Given the description of an element on the screen output the (x, y) to click on. 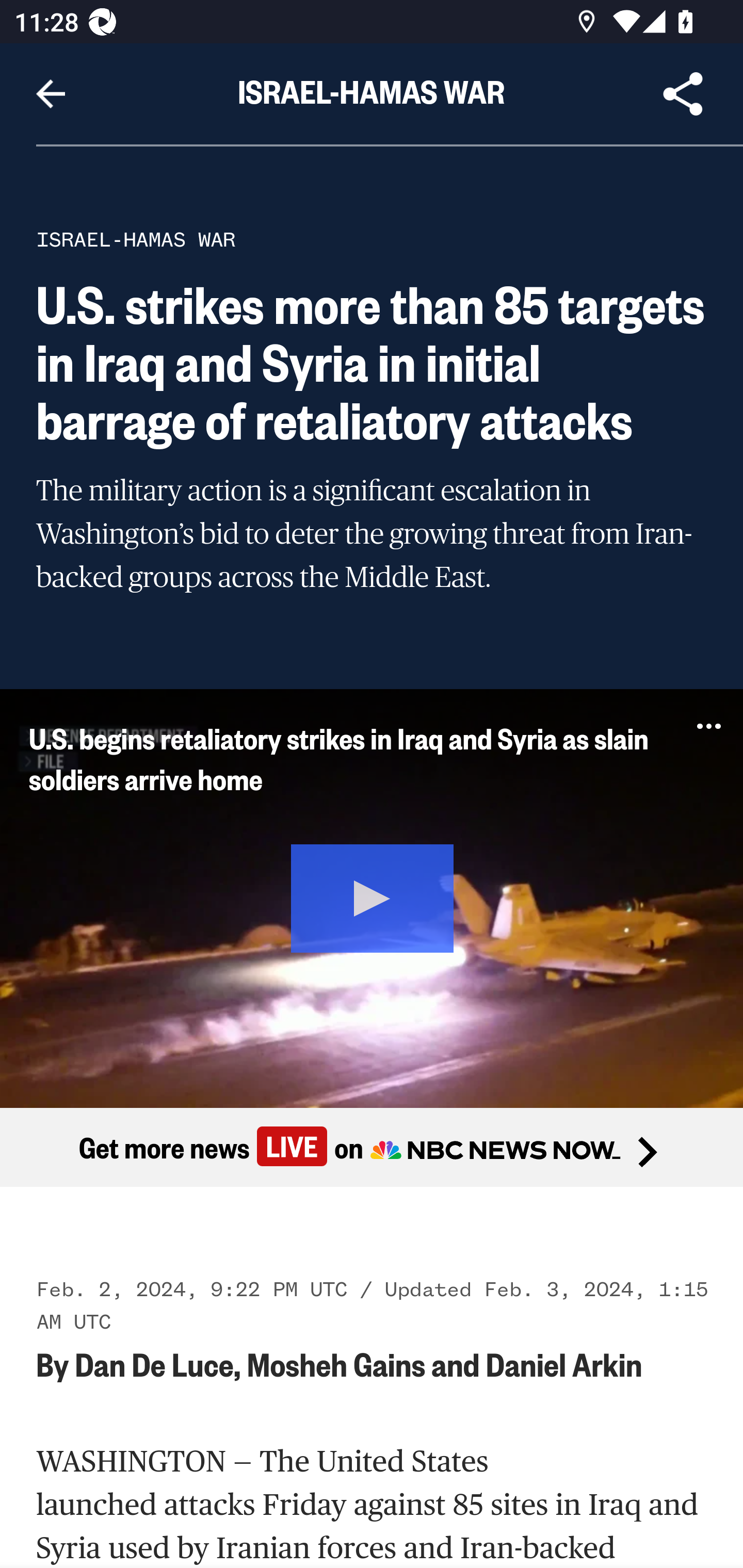
Navigate up (50, 93)
Share Article, button (683, 94)
ISRAEL-HAMAS WAR (136, 239)
Get more news Live on Get more news Live on (371, 1147)
